Given the description of an element on the screen output the (x, y) to click on. 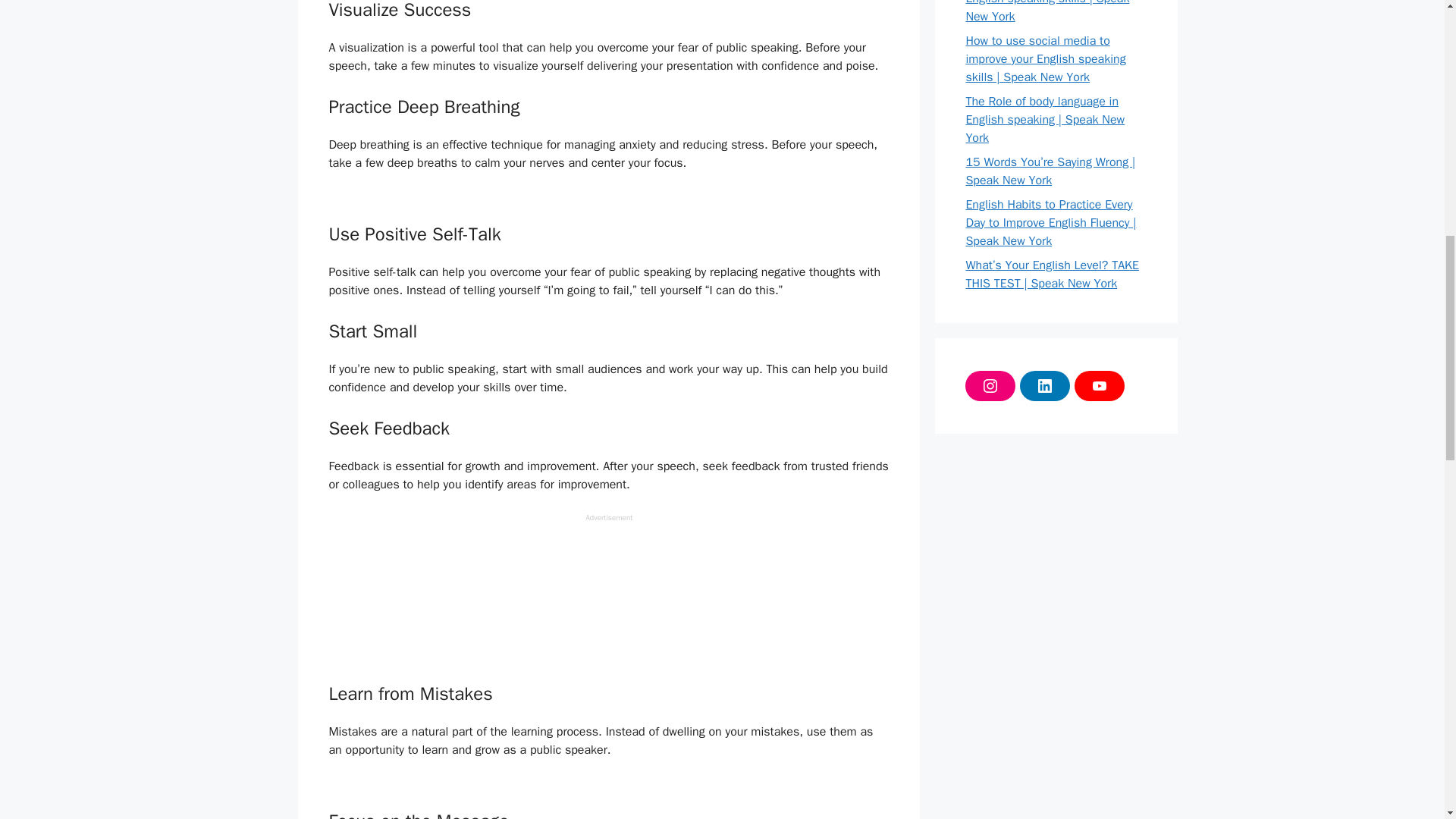
Scroll back to top (1406, 720)
Instagram (989, 386)
YouTube (1099, 386)
Linkedin (1045, 386)
